Given the description of an element on the screen output the (x, y) to click on. 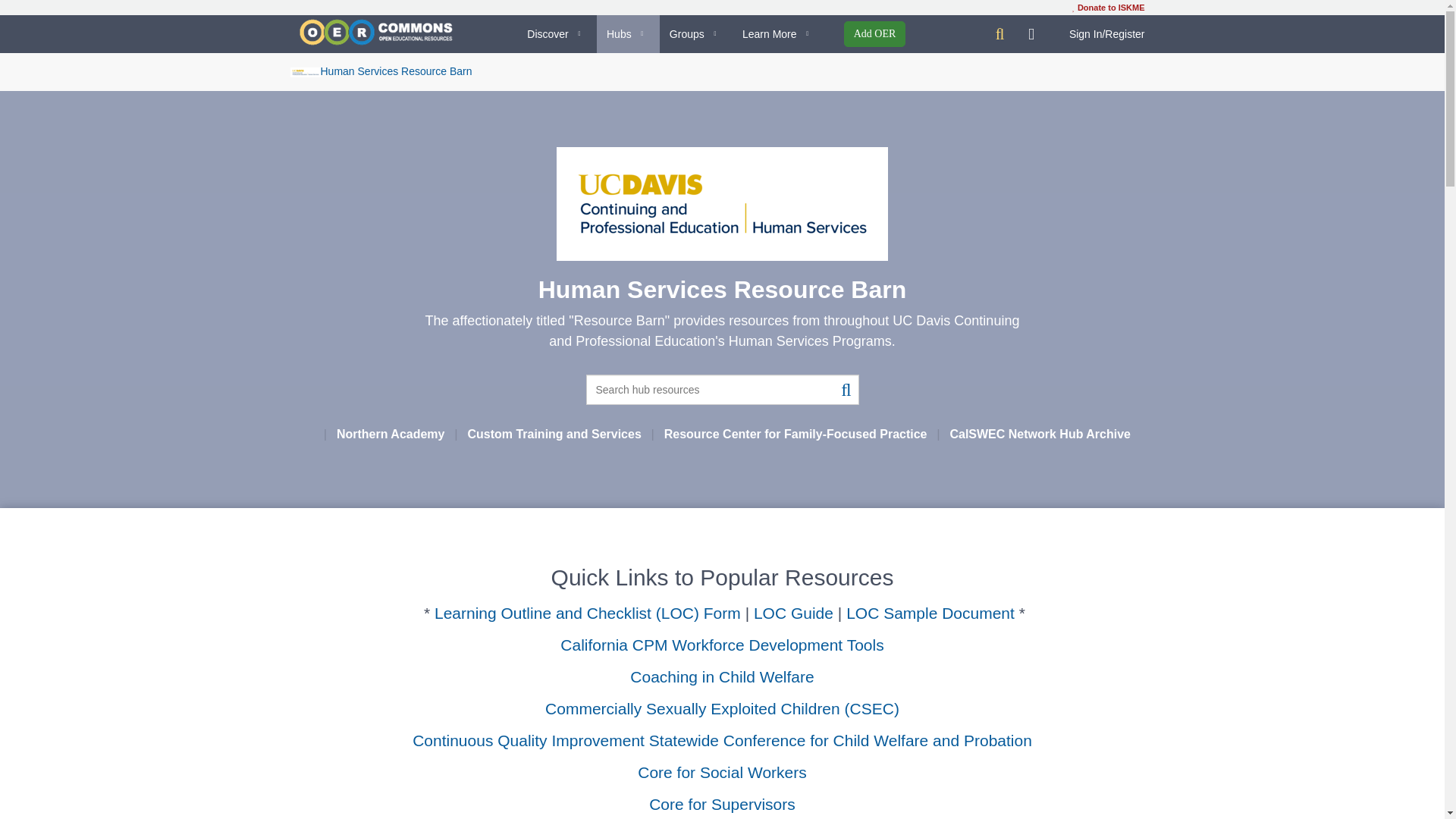
Donate to ISKME (1107, 7)
Learn More (778, 34)
Human Services Resource Barn (380, 70)
Add OER (874, 33)
Hubs (627, 34)
Discover (556, 34)
Show add OER options (874, 33)
Groups (695, 34)
